Given the description of an element on the screen output the (x, y) to click on. 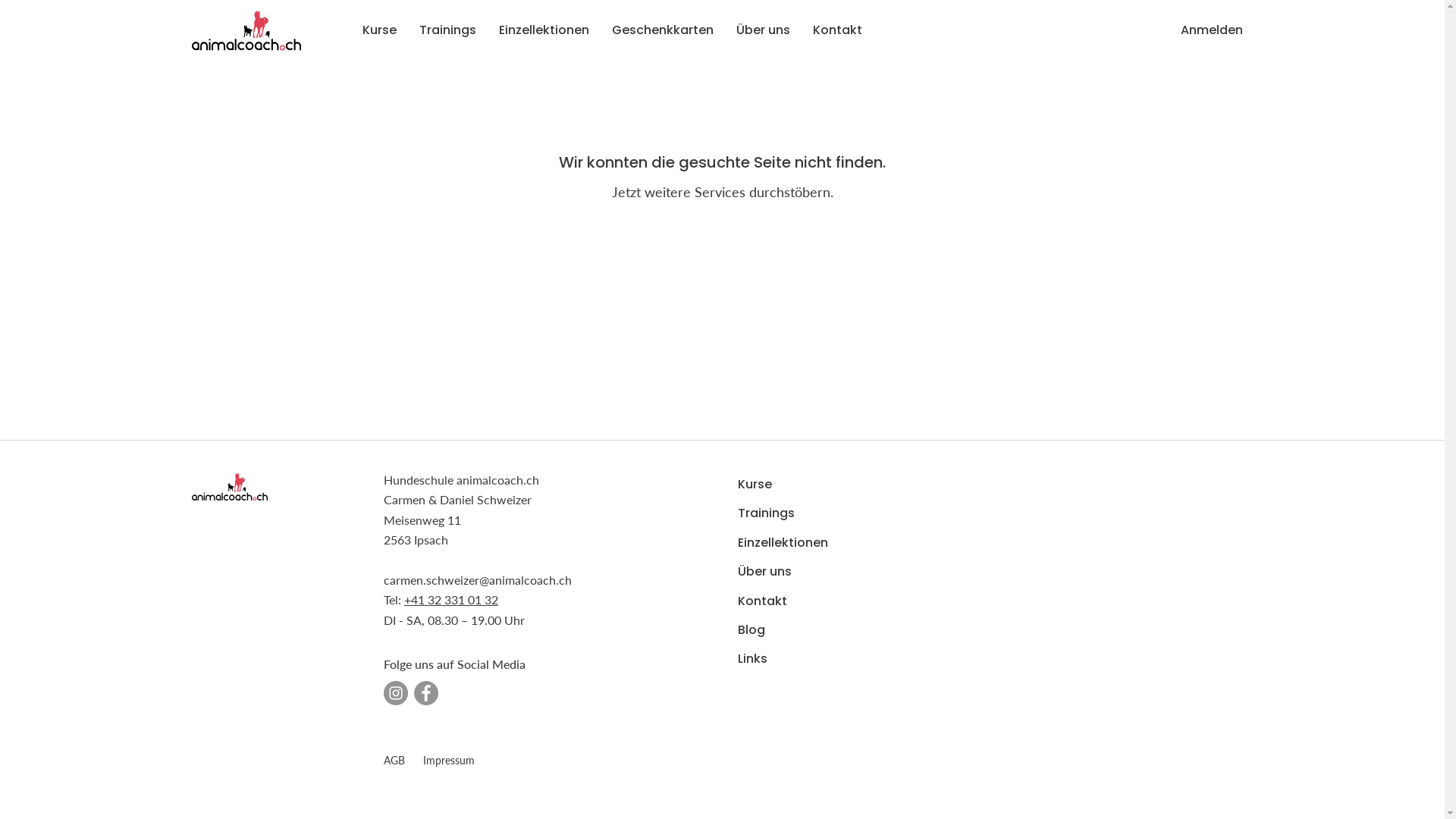
Impressum Element type: text (448, 759)
Einzellektionen Element type: text (542, 30)
+41 32 331 01 32 Element type: text (451, 599)
AGB Element type: text (393, 759)
Anmelden Element type: text (1210, 30)
Geschenkkarten Element type: text (662, 30)
Kurse Element type: text (790, 484)
Blog Element type: text (790, 629)
carmen.schweizer@animalcoach.ch Element type: text (477, 579)
Kontakt Element type: text (836, 30)
Kontakt Element type: text (790, 600)
Links Element type: text (790, 658)
Kurse Element type: text (378, 30)
Trainings Element type: text (447, 30)
Trainings Element type: text (790, 512)
Einzellektionen Element type: text (790, 542)
